Given the description of an element on the screen output the (x, y) to click on. 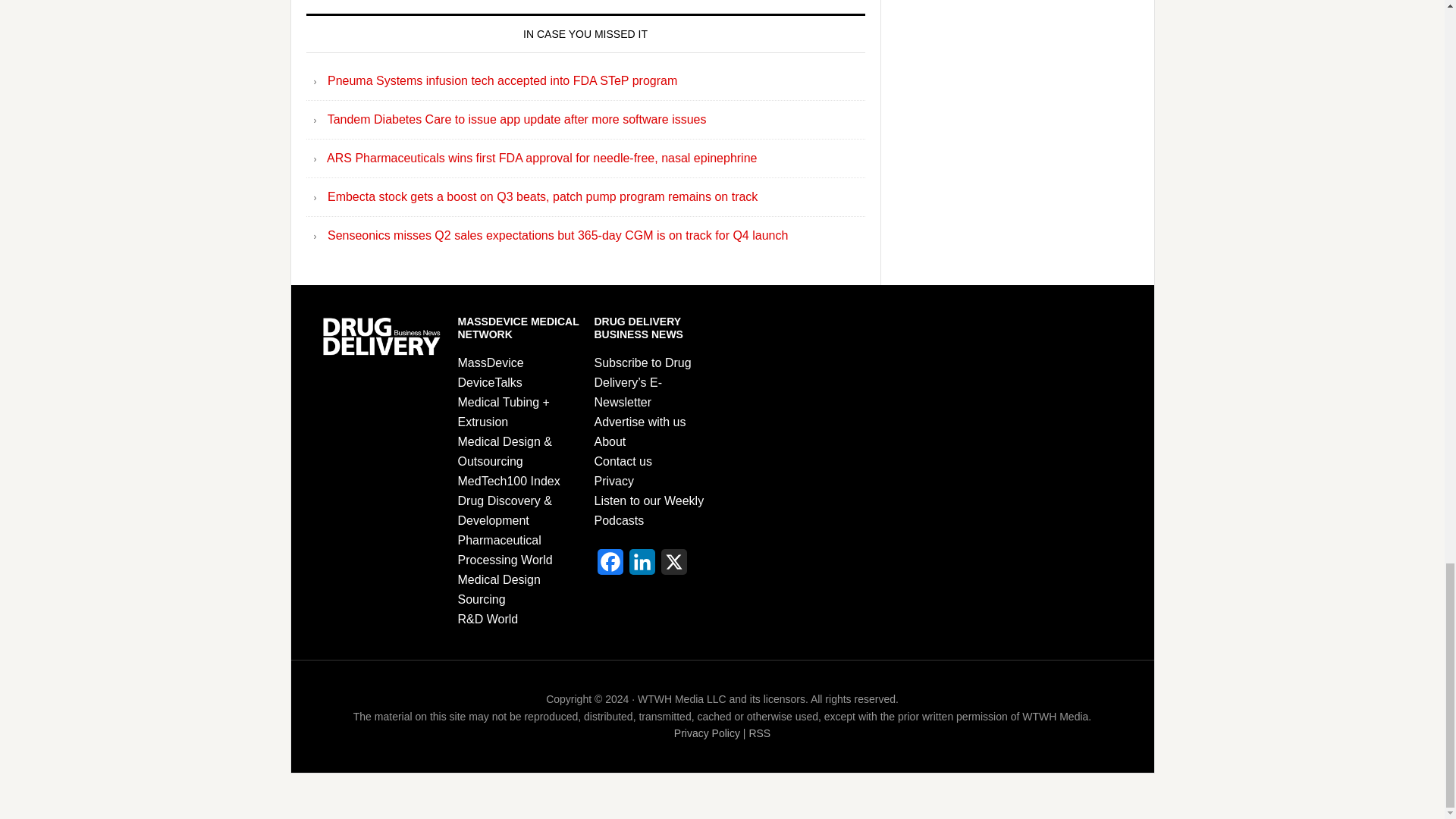
Facebook (610, 565)
LinkedIn Company (642, 565)
Pneuma Systems infusion tech accepted into FDA STeP program (502, 80)
X (674, 565)
